Given the description of an element on the screen output the (x, y) to click on. 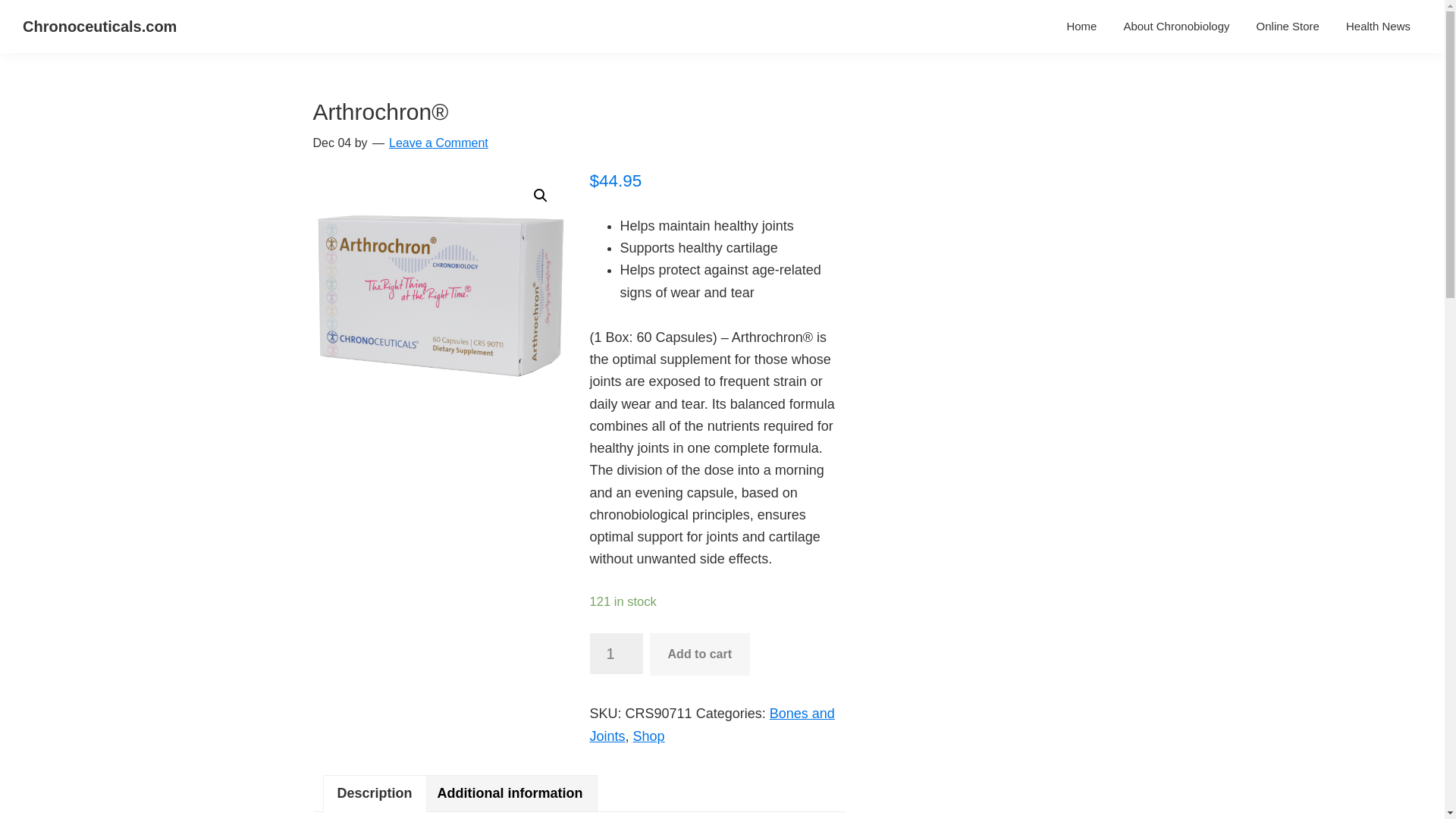
arthrochron.png (440, 296)
Health News (1378, 25)
Bones and Joints (711, 723)
Leave a Comment (437, 142)
Chronoceuticals.com (99, 26)
Qty (616, 653)
Shop (649, 735)
Additional information (509, 793)
1 (616, 653)
About Chronobiology (1176, 25)
Online Store (1287, 25)
Home (1081, 25)
Description (374, 793)
Add to cart (699, 654)
